Given the description of an element on the screen output the (x, y) to click on. 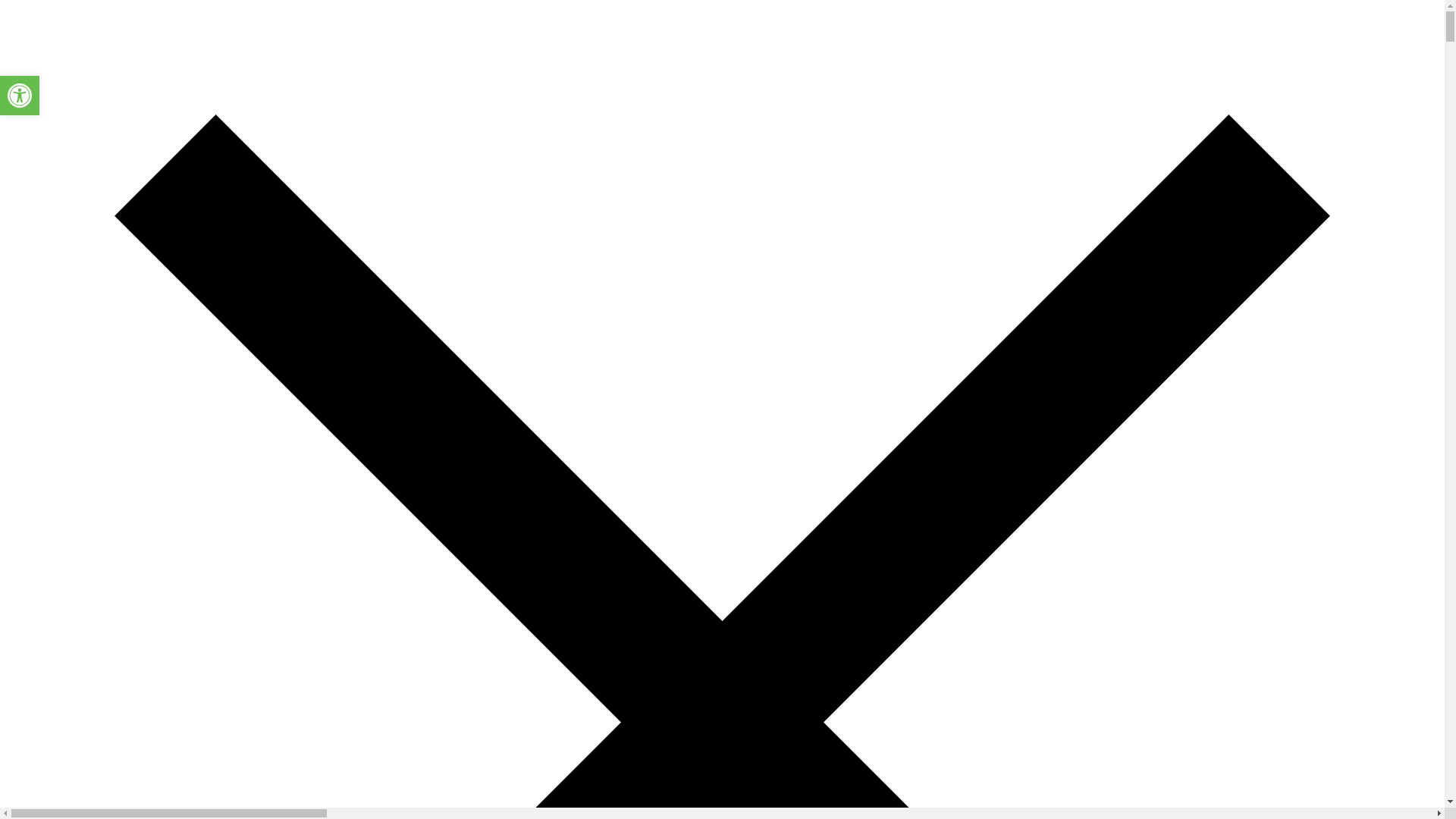
Accessibility Tools (19, 95)
Accessibility Tools (19, 95)
